Given the description of an element on the screen output the (x, y) to click on. 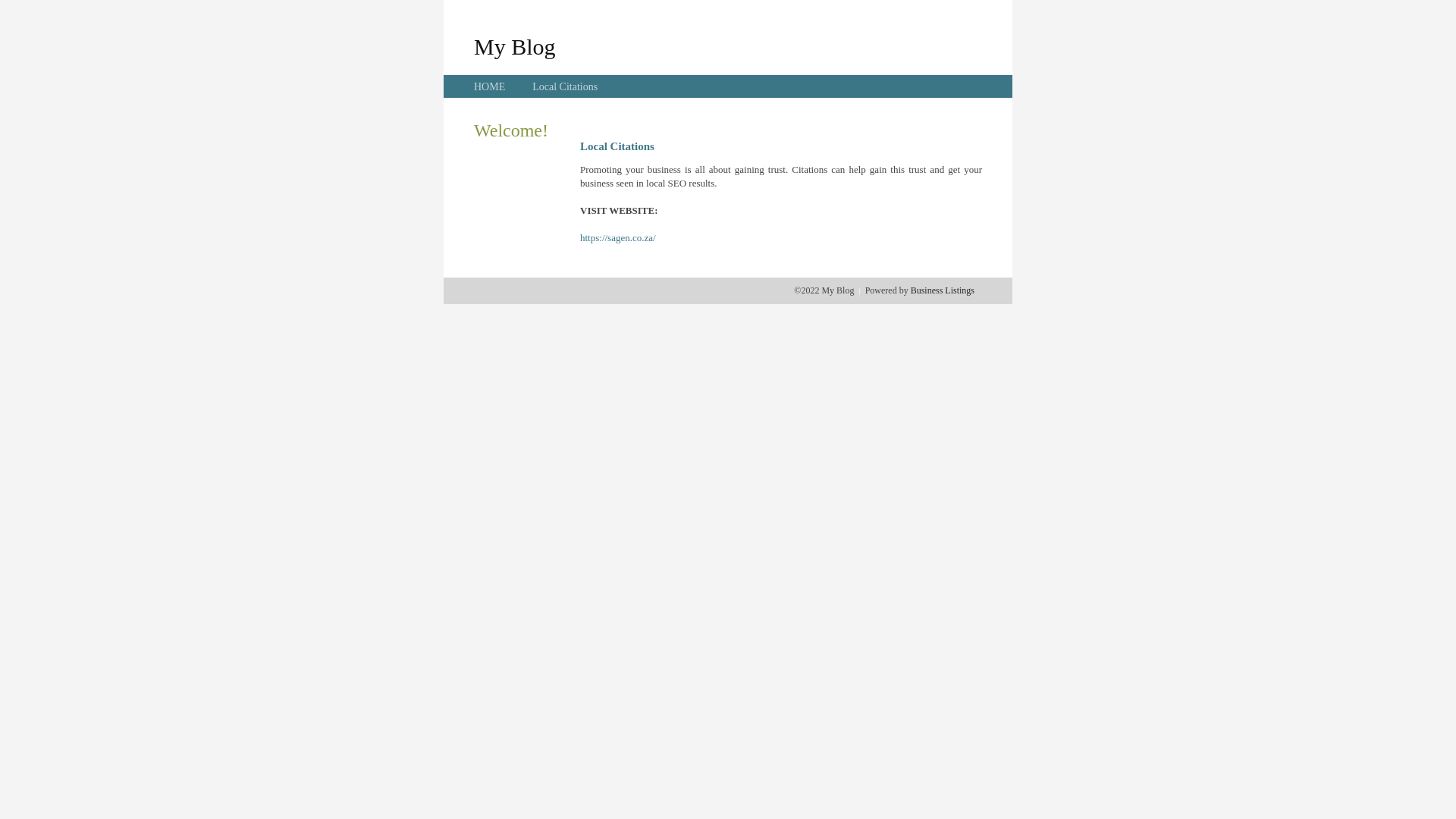
Business Listings Element type: text (942, 290)
HOME Element type: text (489, 86)
https://sagen.co.za/ Element type: text (617, 237)
My Blog Element type: text (514, 46)
Local Citations Element type: text (564, 86)
